Given the description of an element on the screen output the (x, y) to click on. 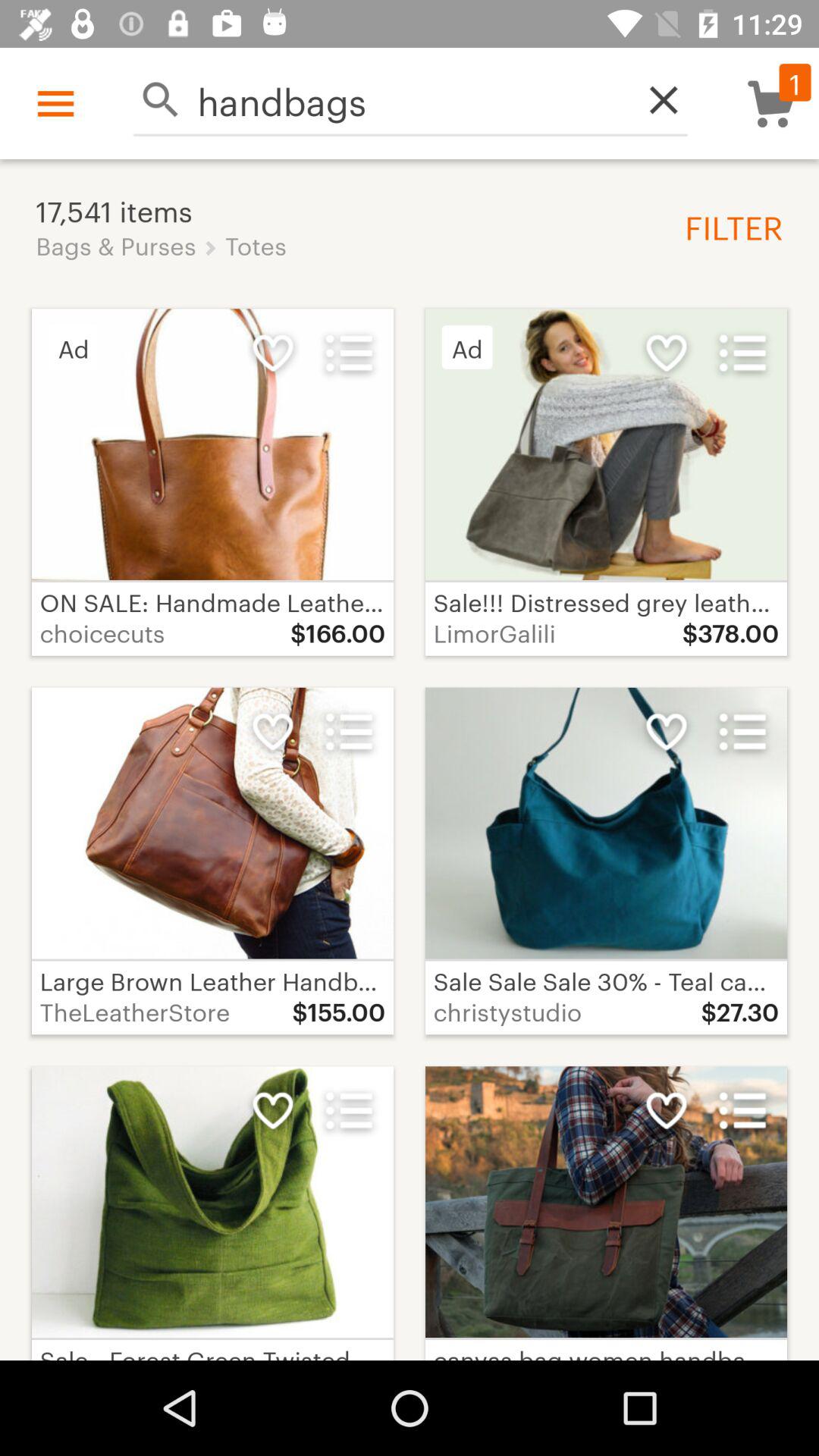
turn off the icon above the 17,541 items icon (410, 99)
